Given the description of an element on the screen output the (x, y) to click on. 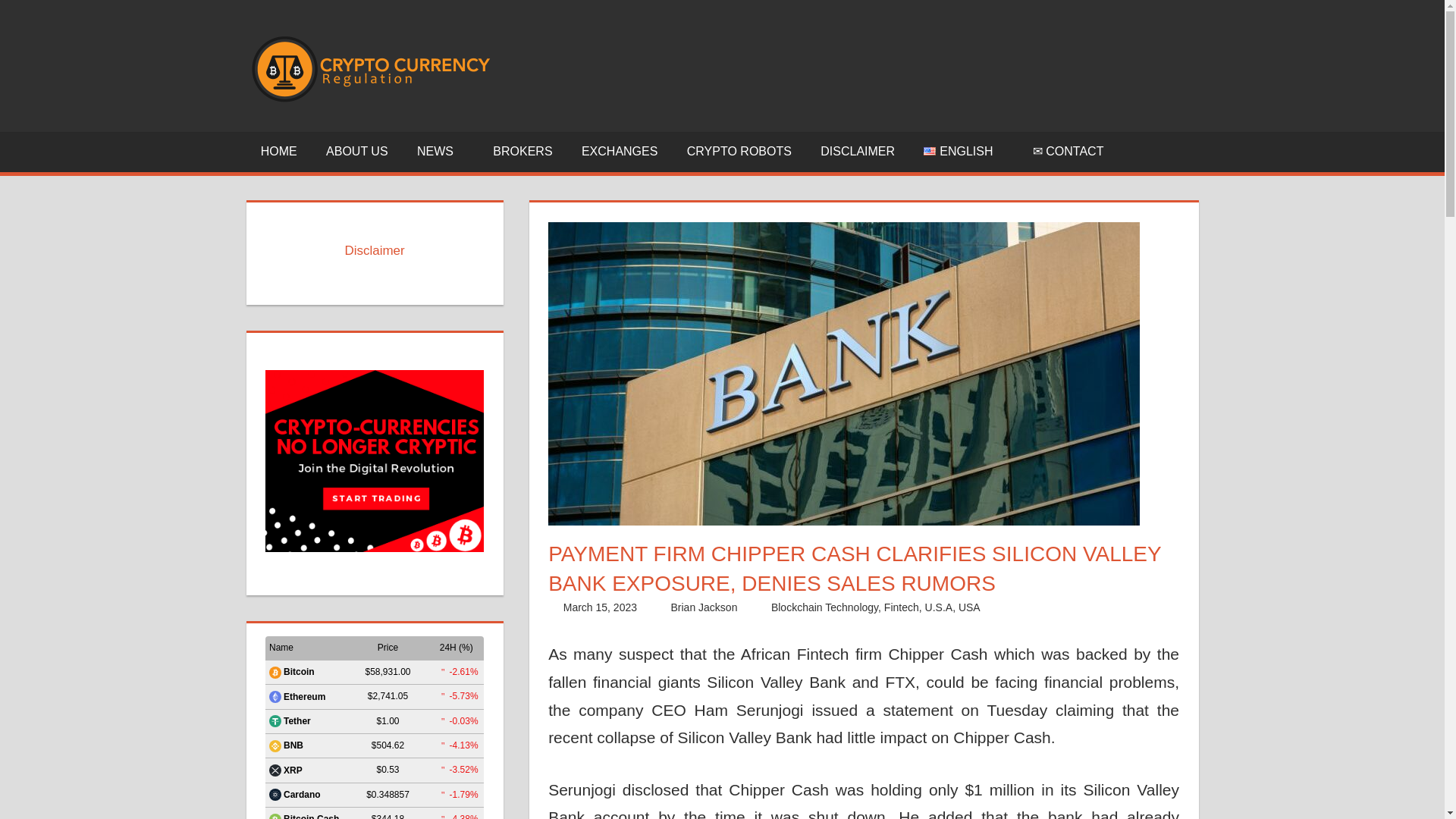
Brian Jackson (702, 607)
11:48 am (600, 607)
Blockchain Technology (824, 607)
EXCHANGES (619, 151)
NEWS (441, 151)
Fintech (900, 607)
Leave a comment (1052, 607)
HOME (278, 151)
BROKERS (523, 151)
ENGLISH (962, 151)
